Given the description of an element on the screen output the (x, y) to click on. 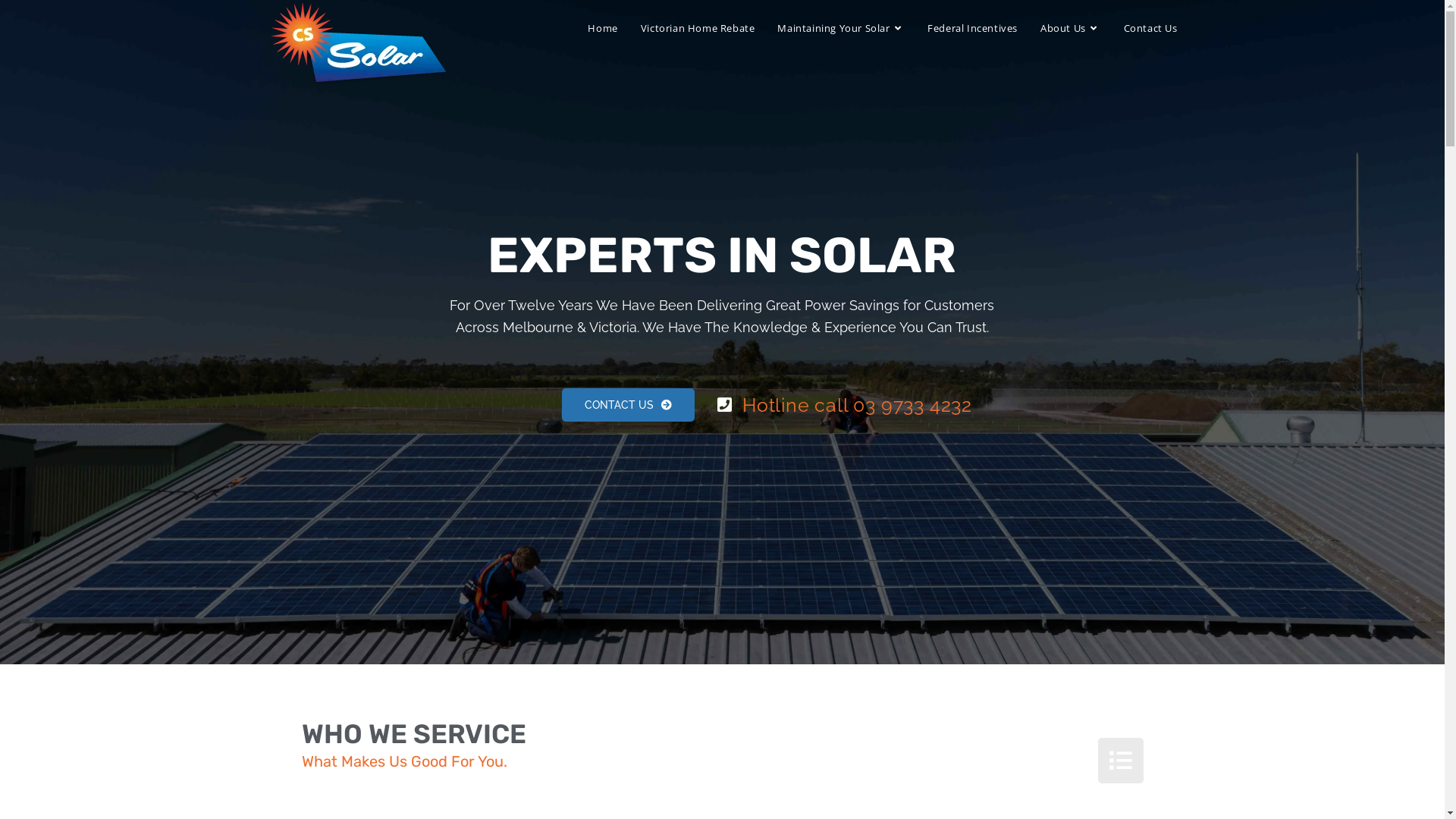
CONTACT US Element type: text (627, 404)
Contact Us Element type: text (1149, 28)
Home Element type: text (602, 28)
Federal Incentives Element type: text (972, 28)
Maintaining Your Solar Element type: text (840, 28)
Victorian Home Rebate Element type: text (697, 28)
About Us Element type: text (1070, 28)
